Given the description of an element on the screen output the (x, y) to click on. 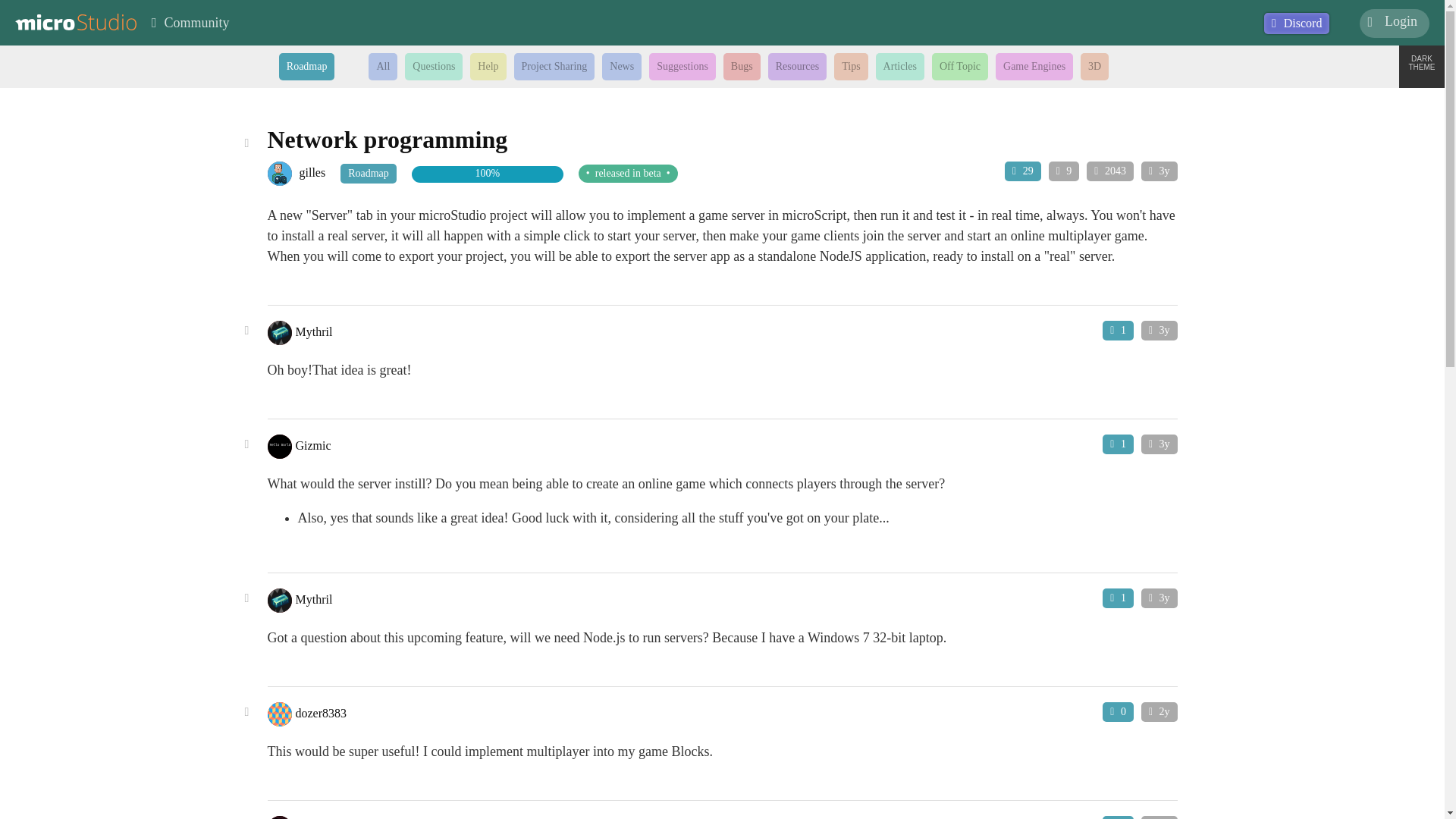
dozer8383 (321, 712)
Articles (900, 66)
Suggestions (682, 66)
Bugs (741, 66)
Off Topic (959, 66)
Gizmic (278, 446)
Mythril (314, 598)
News (622, 66)
Tips (850, 66)
gilles (317, 172)
3D (1094, 66)
All (382, 66)
microStudio Community (190, 21)
Copy link (247, 817)
Questions (433, 66)
